Given the description of an element on the screen output the (x, y) to click on. 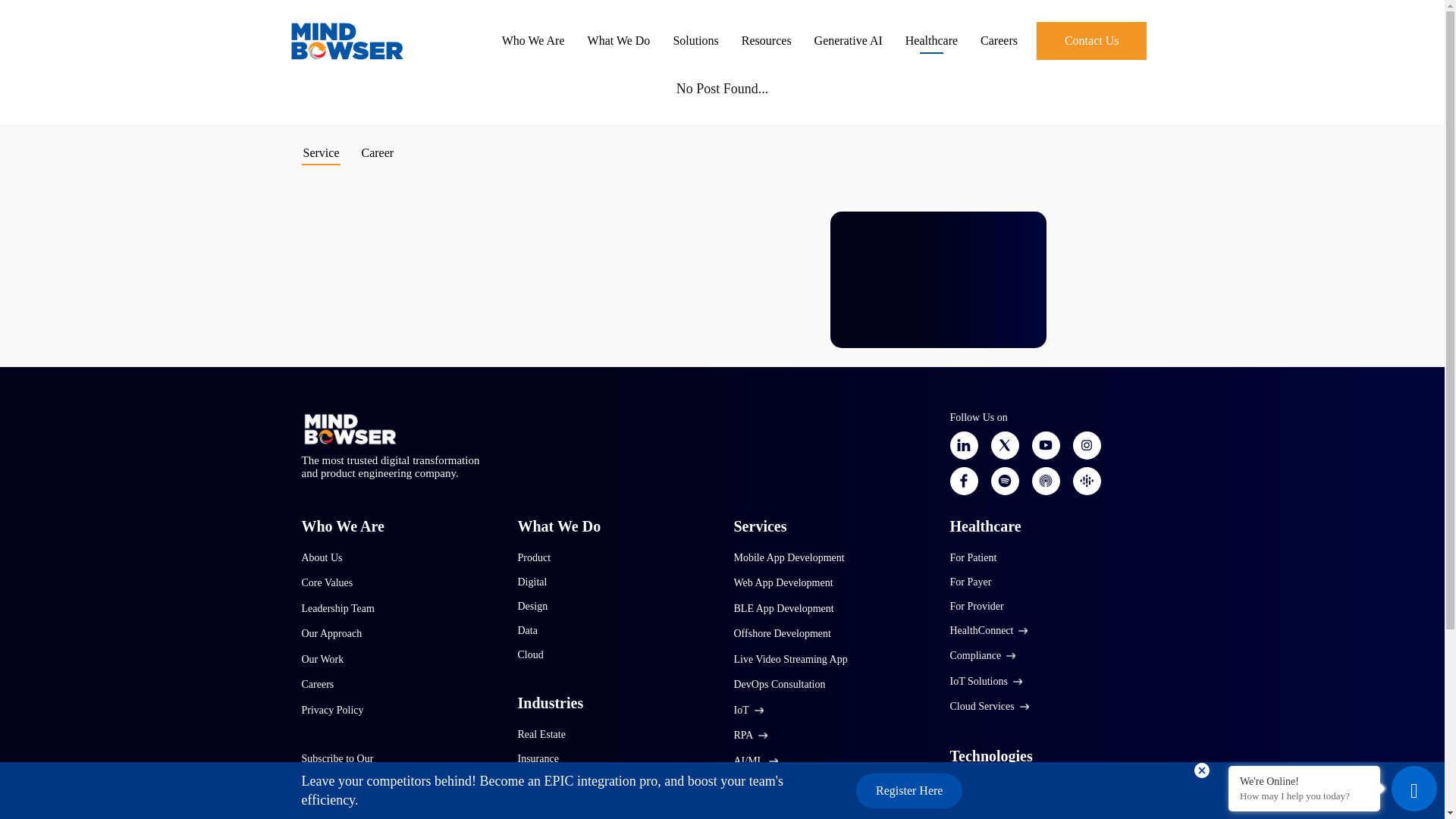
How may I help you today? (1304, 796)
Who We Are (533, 40)
What We Do (618, 40)
We're Online! (1304, 780)
Solutions (695, 40)
